Given the description of an element on the screen output the (x, y) to click on. 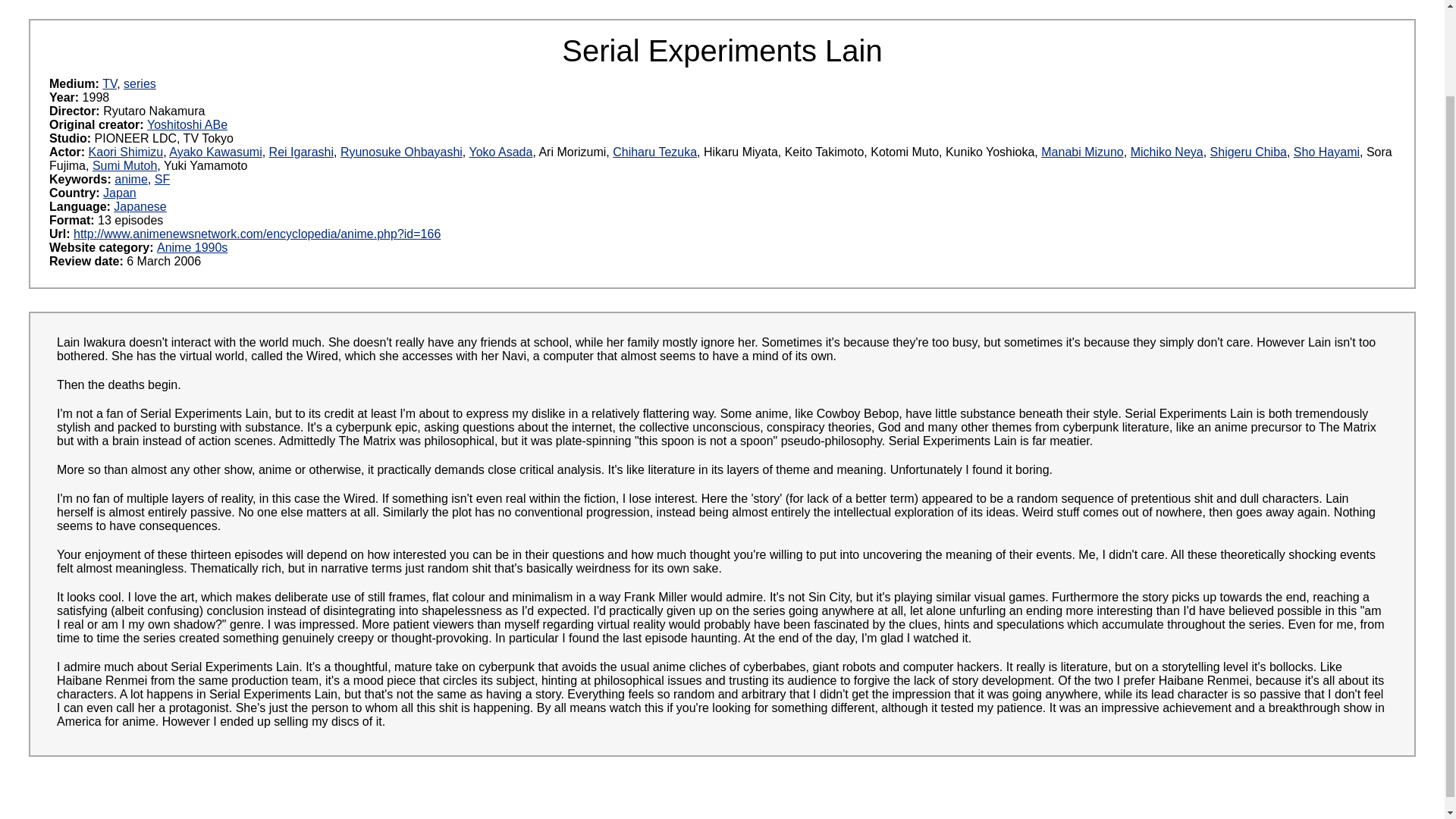
series (139, 83)
Japan (119, 192)
Sumi Mutoh (125, 164)
SF (162, 178)
Chiharu Tezuka (654, 151)
Ryunosuke Ohbayashi (401, 151)
Sho Hayami (1326, 151)
Shigeru Chiba (1248, 151)
Rei Igarashi (301, 151)
Anime 1990s (192, 246)
